Given the description of an element on the screen output the (x, y) to click on. 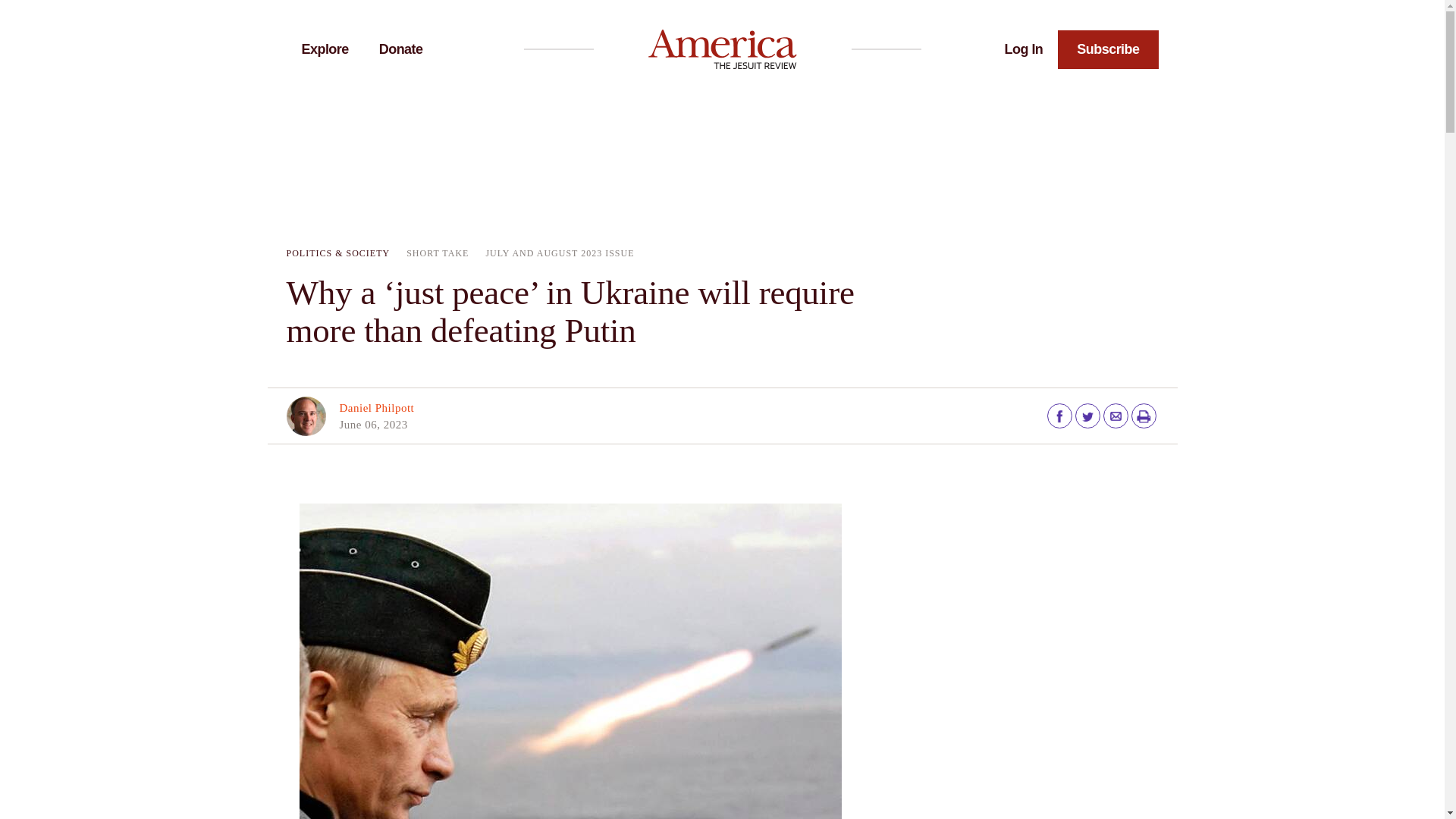
Donate (401, 49)
Explore (325, 49)
Log In (1024, 49)
mail (1114, 415)
twitter (1087, 415)
America the Jesuit Review (721, 48)
Skip to main content (721, 1)
Subscribe (1107, 49)
facebook (1059, 415)
